Given the description of an element on the screen output the (x, y) to click on. 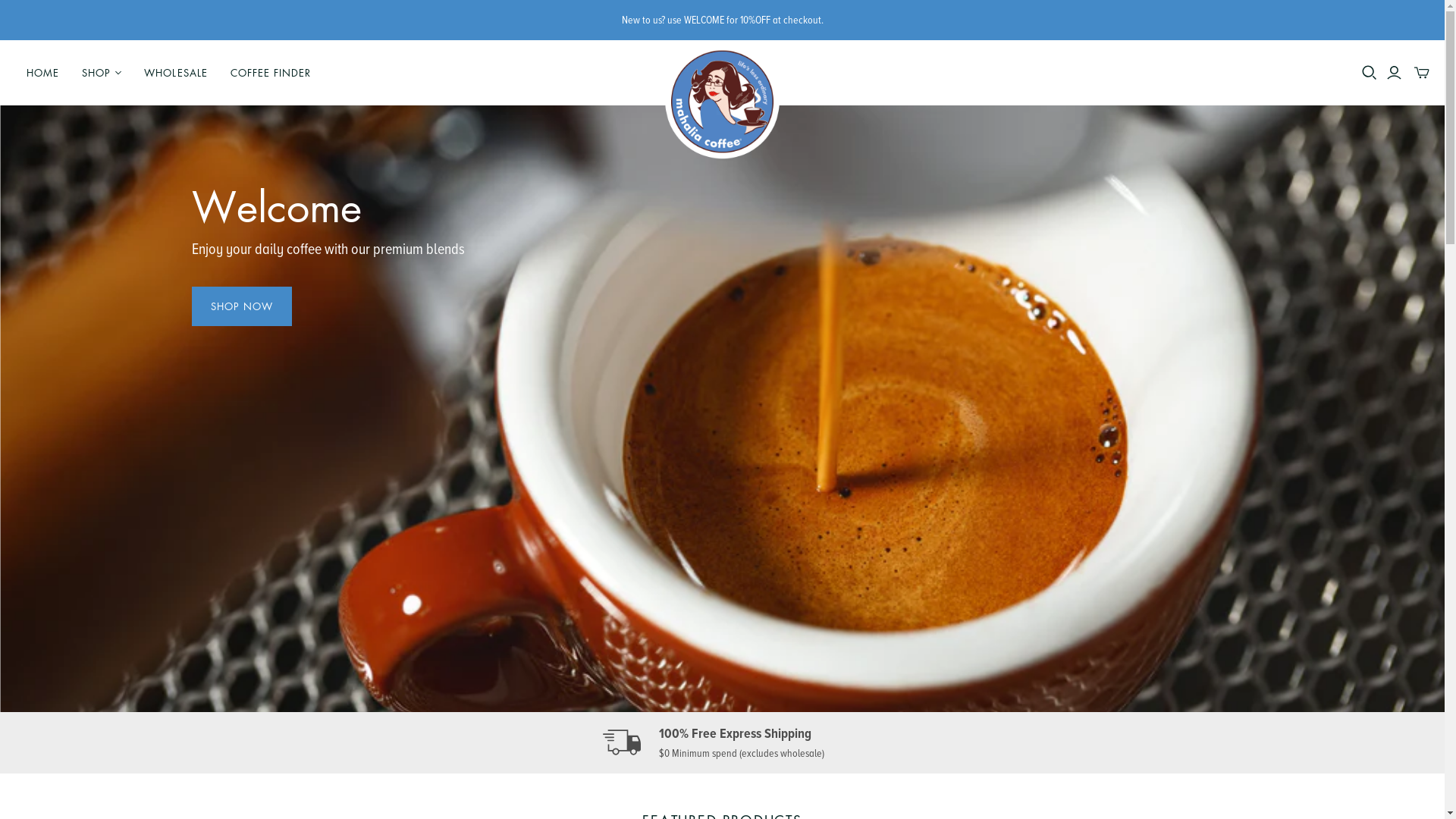
HOME Element type: text (42, 72)
SHOP Element type: text (101, 72)
WHOLESALE Element type: text (175, 72)
COFFEE FINDER Element type: text (271, 72)
New to us? use WELCOME for 10%OFF at checkout. Element type: text (722, 20)
